Given the description of an element on the screen output the (x, y) to click on. 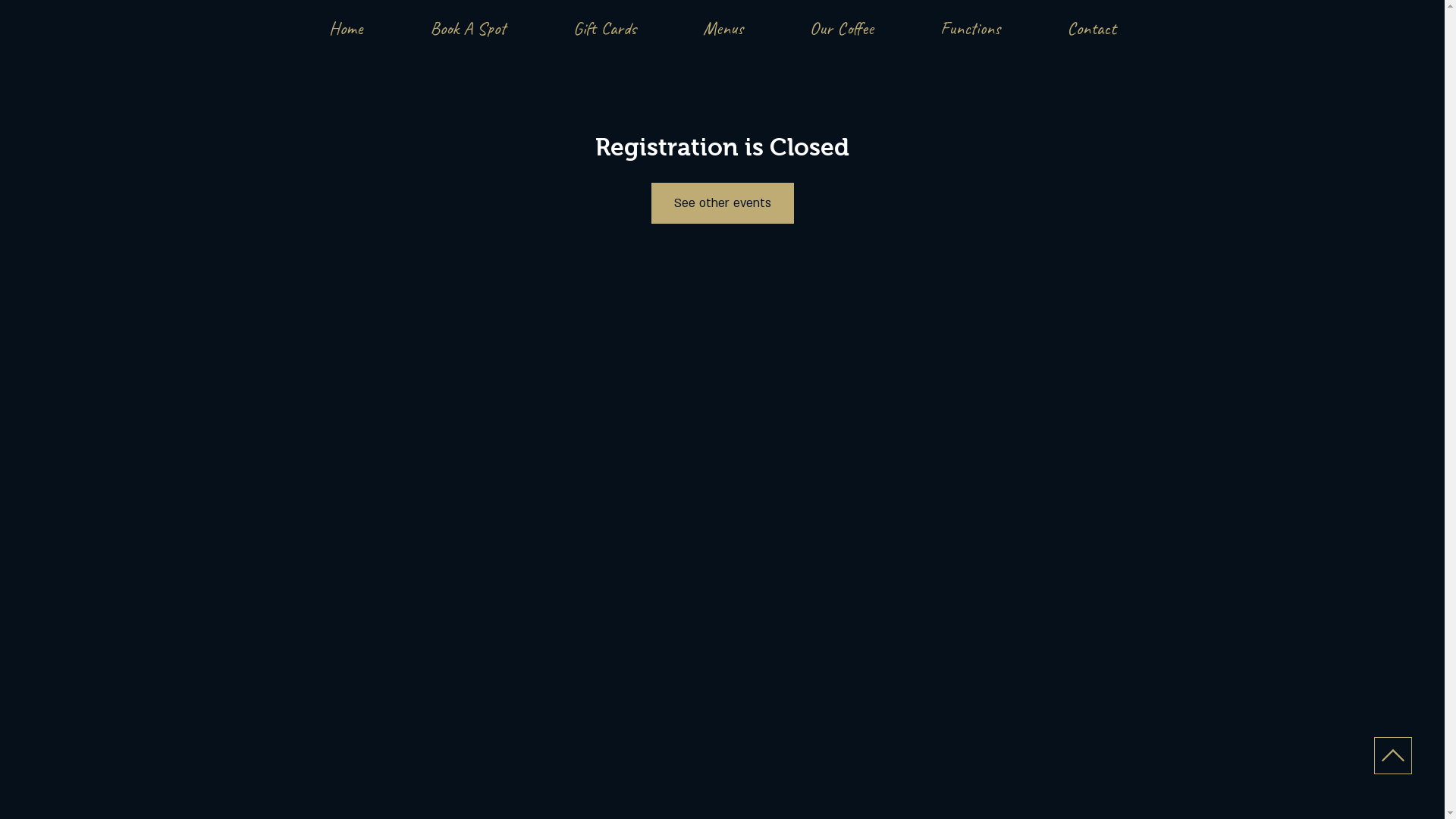
Our Coffee Element type: text (841, 28)
Functions Element type: text (969, 28)
Book A Spot Element type: text (467, 28)
Menus Element type: text (721, 28)
Home Element type: text (345, 28)
Contact Element type: text (1090, 28)
See other events Element type: text (721, 202)
Gift Cards Element type: text (604, 28)
